Given the description of an element on the screen output the (x, y) to click on. 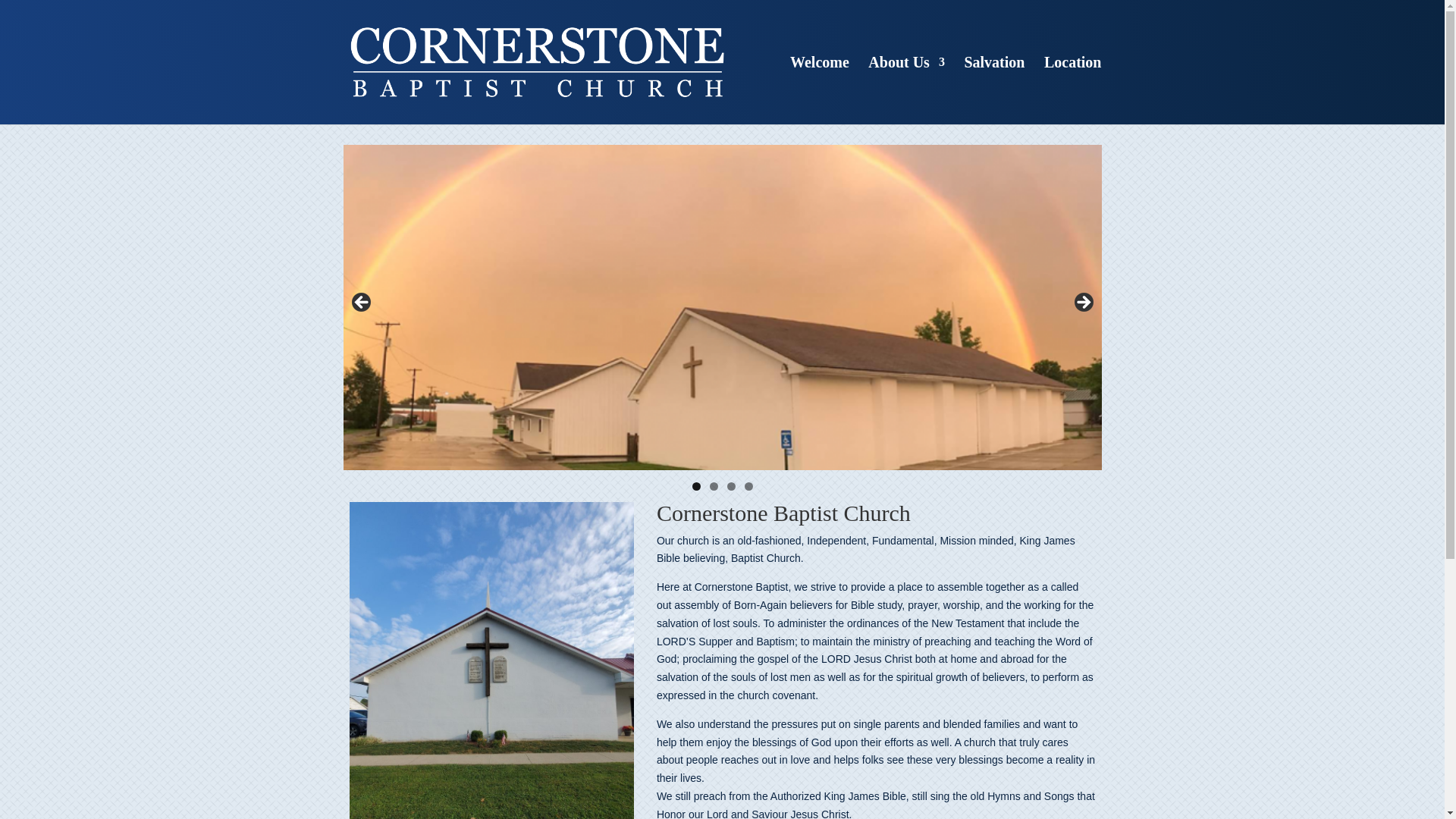
4 (748, 486)
About Us (905, 90)
2 (713, 486)
3 (730, 486)
Next (1081, 302)
Salvation (994, 90)
Previous (361, 302)
1 (695, 486)
